Given the description of an element on the screen output the (x, y) to click on. 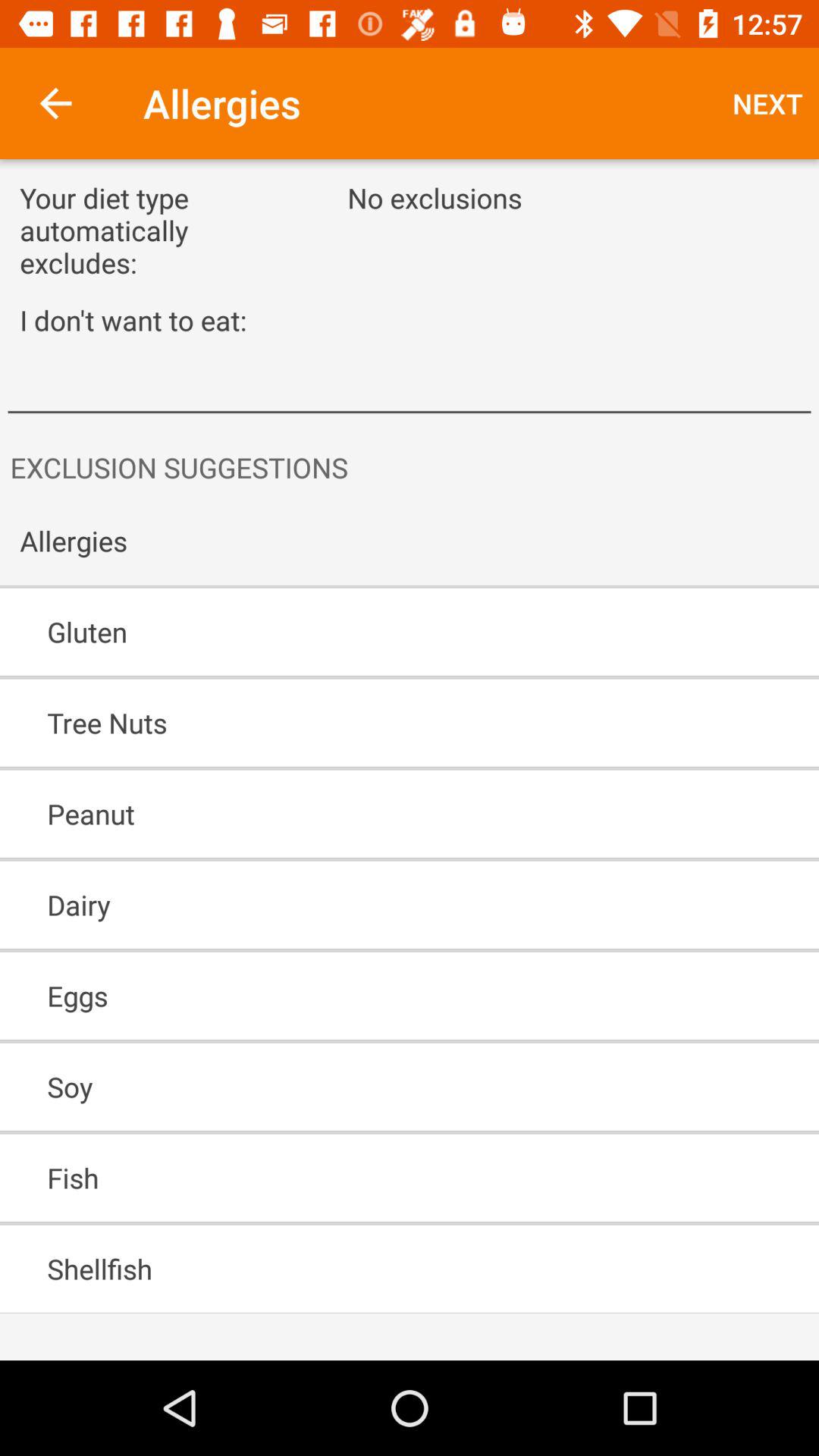
select soy (365, 1086)
